Given the description of an element on the screen output the (x, y) to click on. 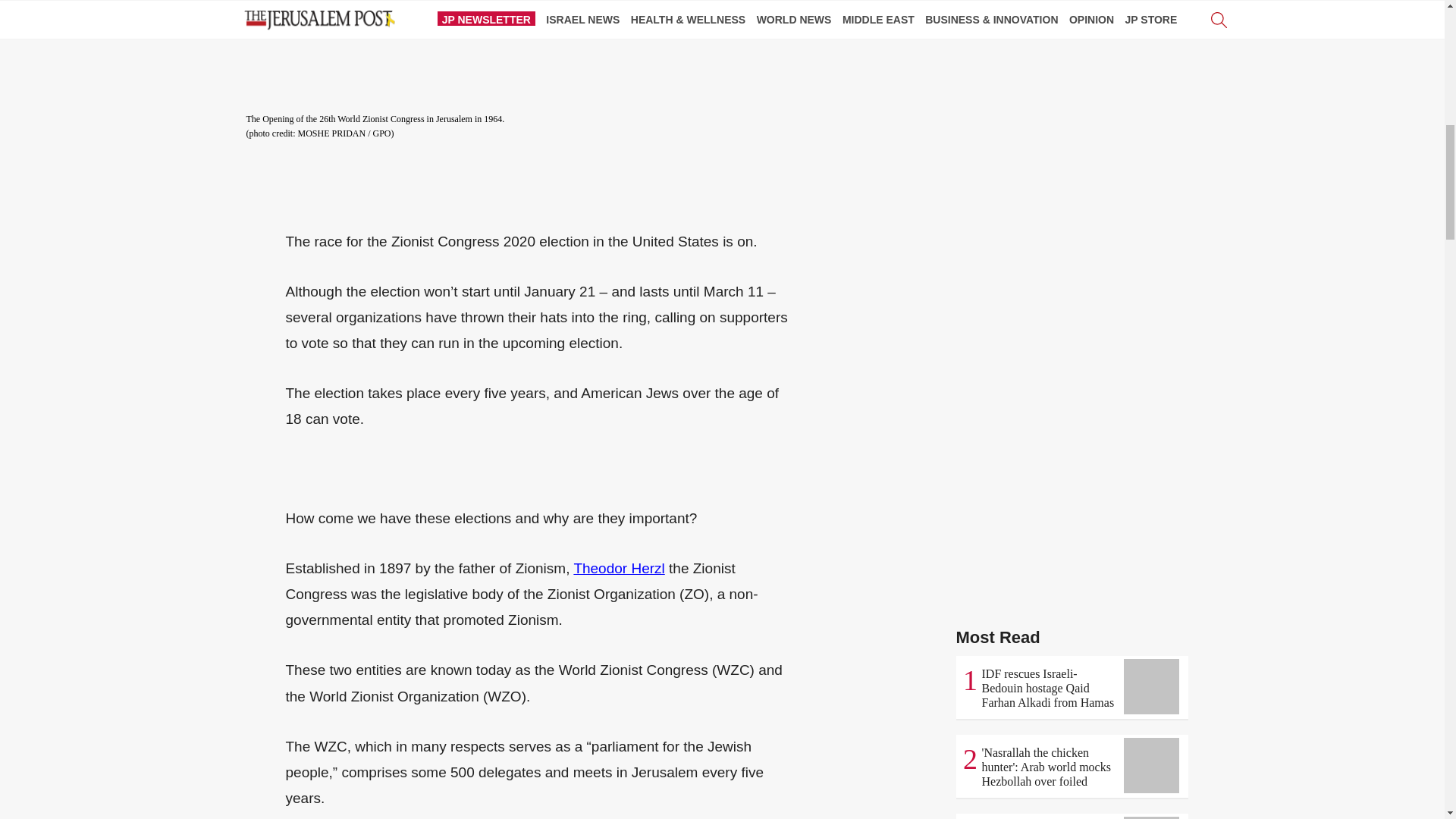
Theodor Herzl (618, 568)
